Given the description of an element on the screen output the (x, y) to click on. 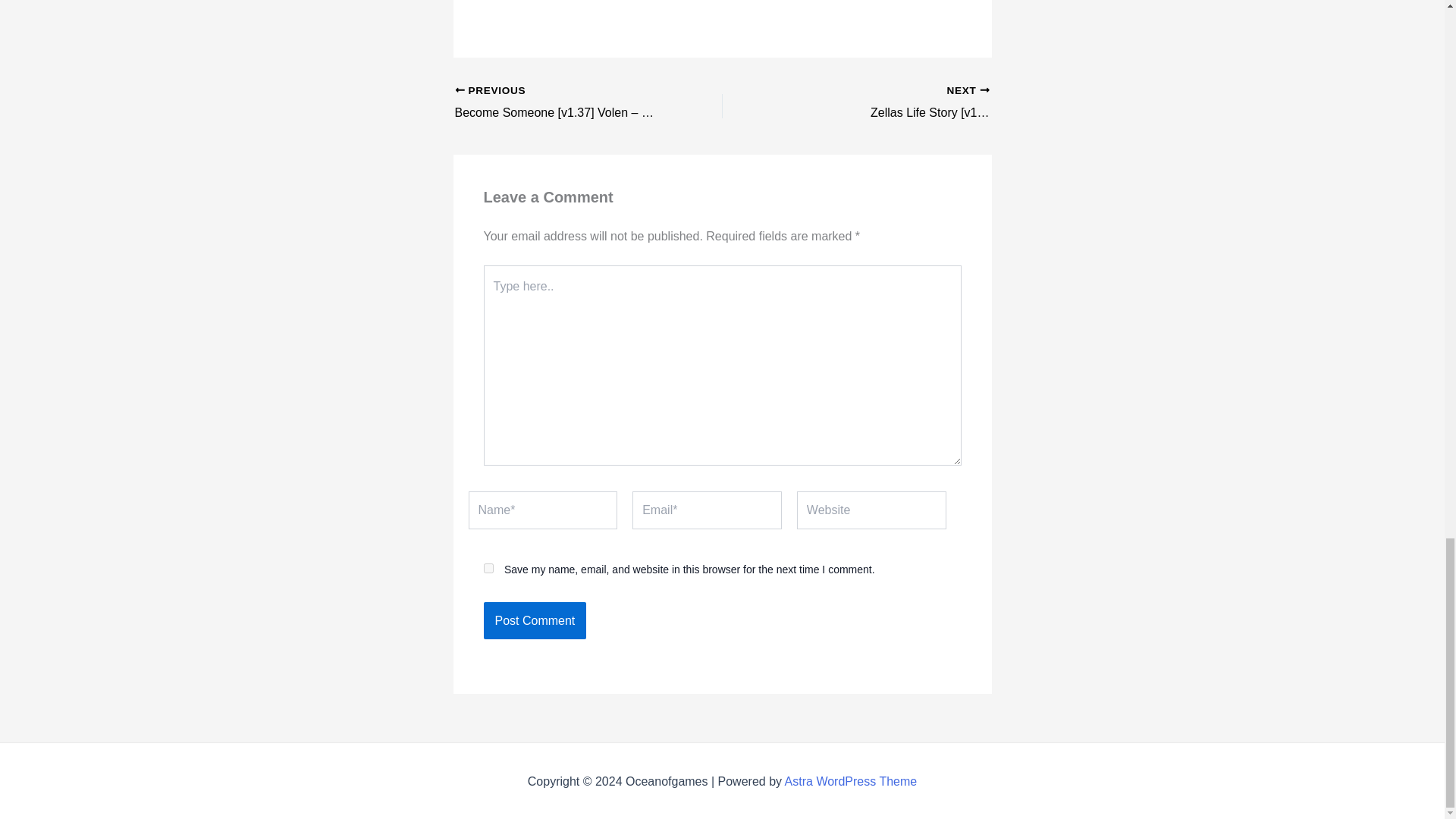
Post Comment (534, 620)
yes (488, 568)
Astra WordPress Theme (850, 780)
Post Comment (534, 620)
